Given the description of an element on the screen output the (x, y) to click on. 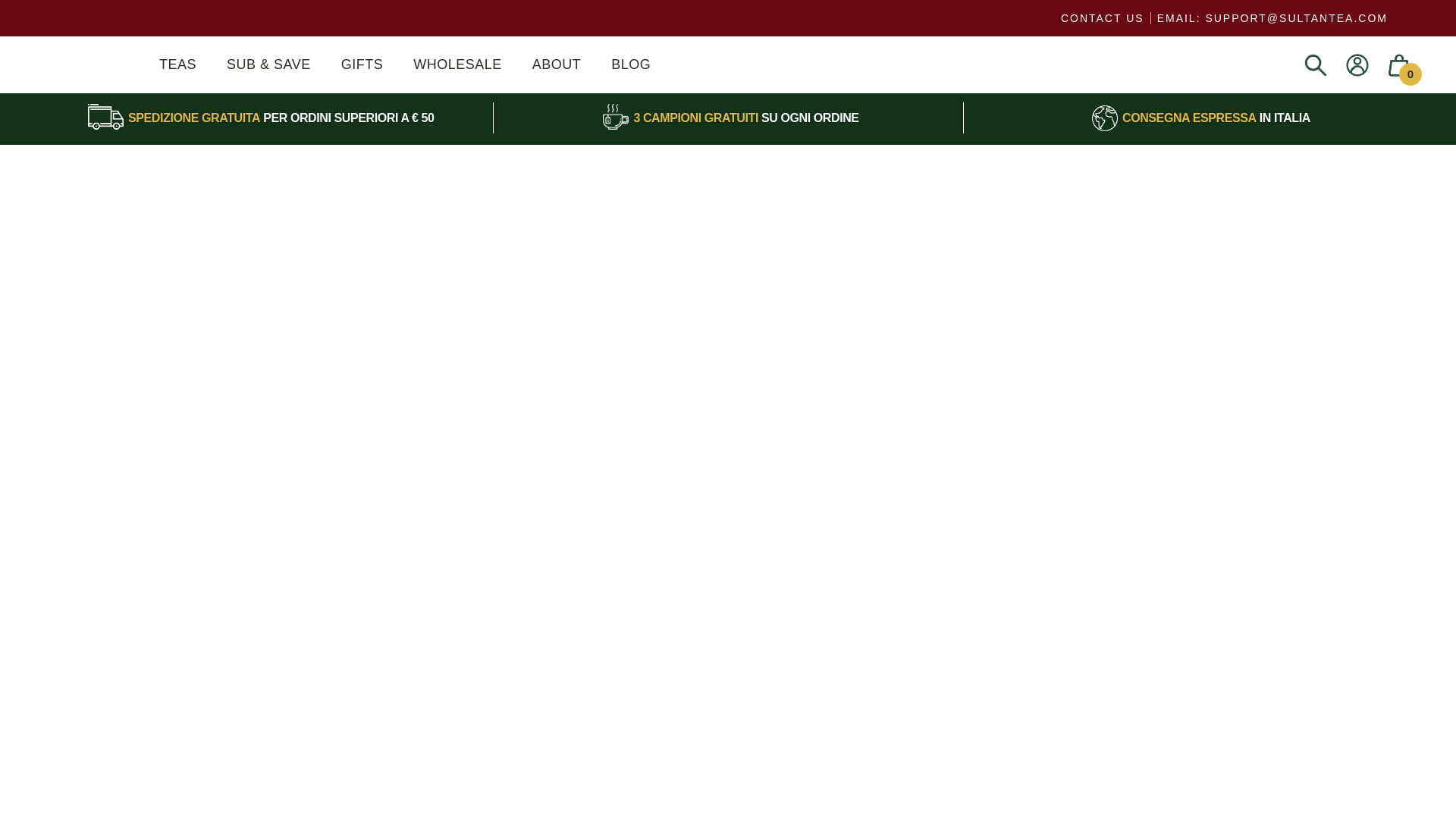
CONTACT US (1102, 18)
TEAS (177, 64)
